Given the description of an element on the screen output the (x, y) to click on. 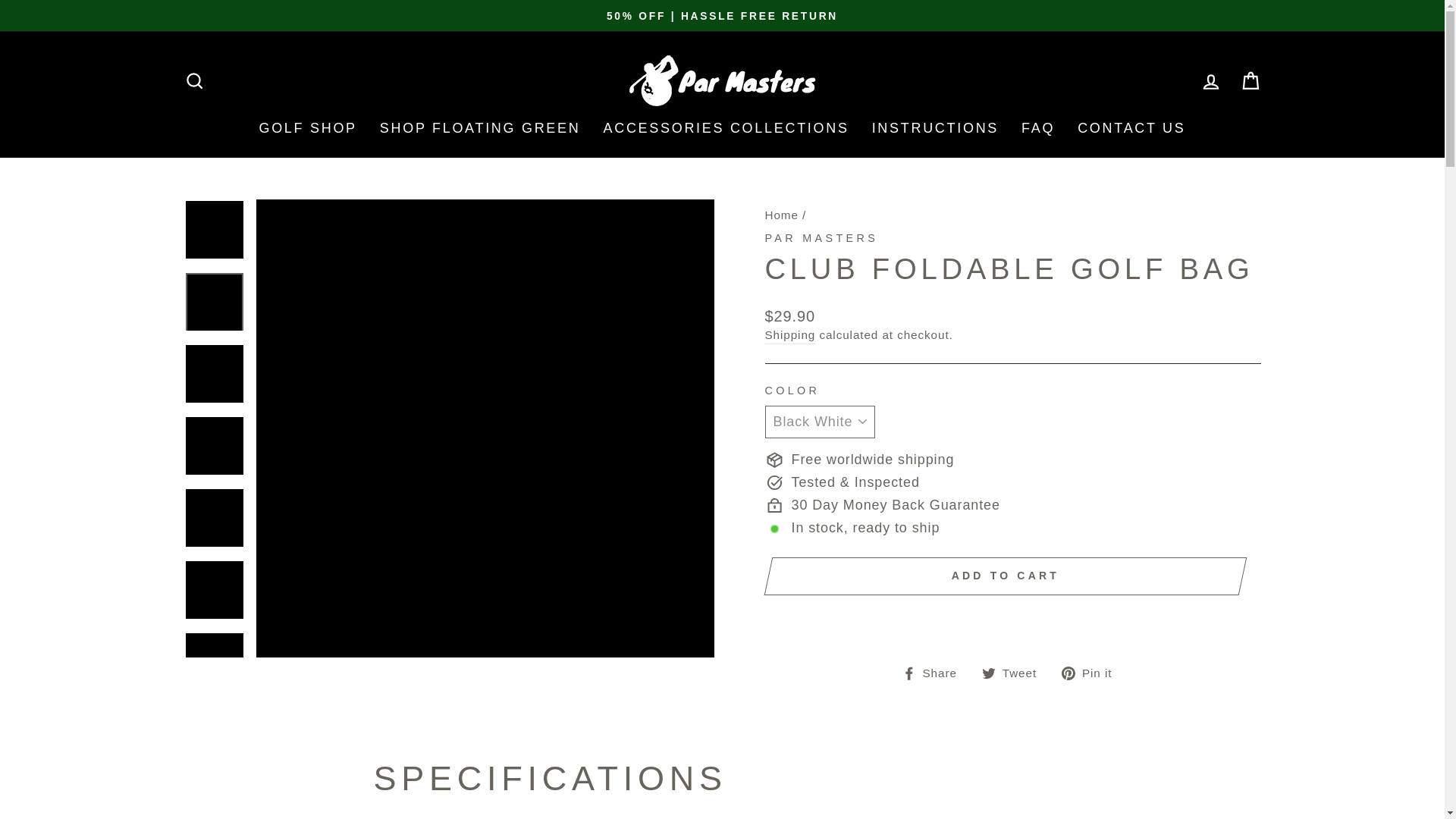
Par Masters (820, 237)
Share on Facebook (935, 672)
Back to the frontpage (780, 214)
Tweet on Twitter (1014, 672)
Pin on Pinterest (1091, 672)
